Given the description of an element on the screen output the (x, y) to click on. 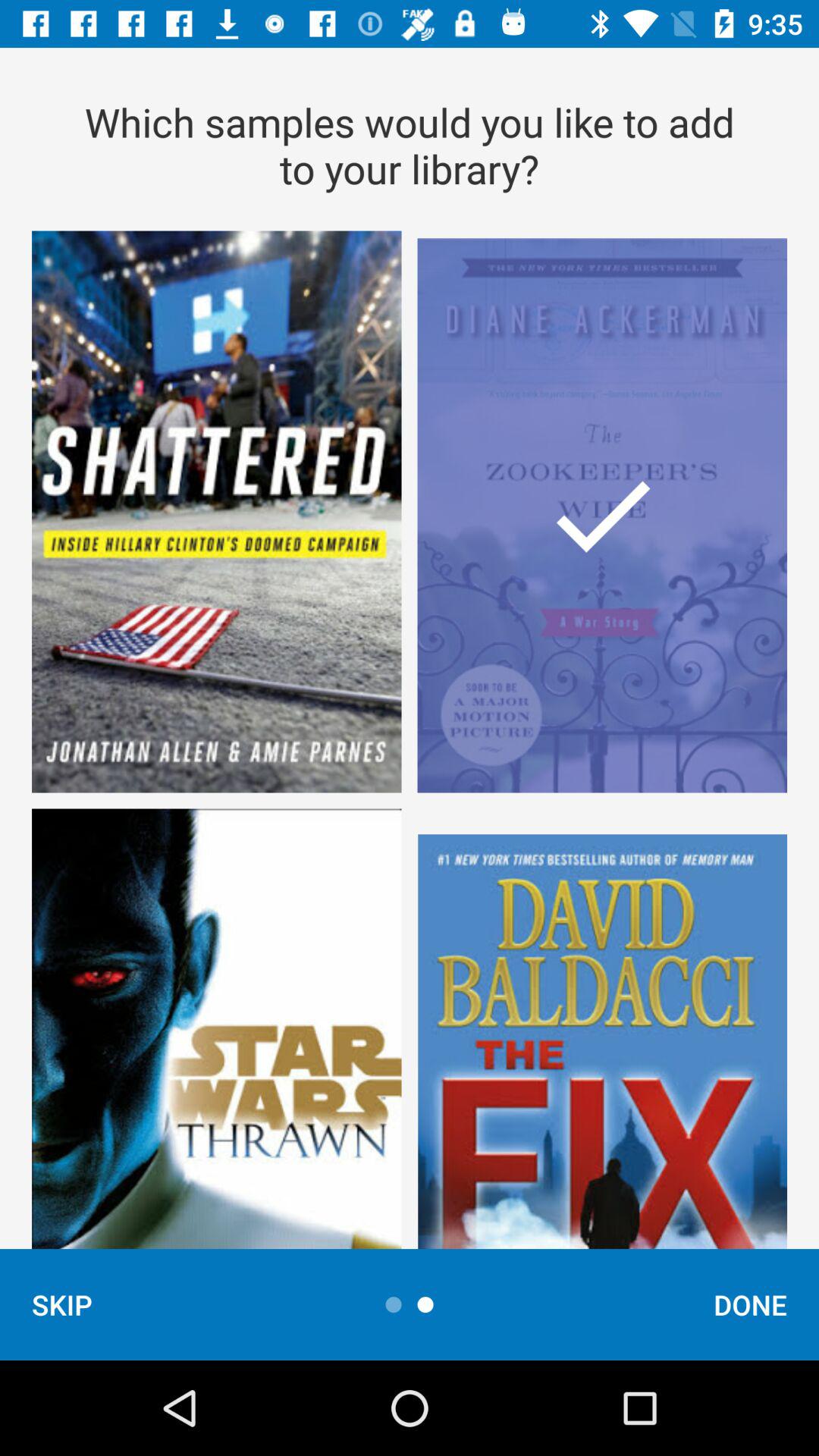
turn off the done item (750, 1304)
